Given the description of an element on the screen output the (x, y) to click on. 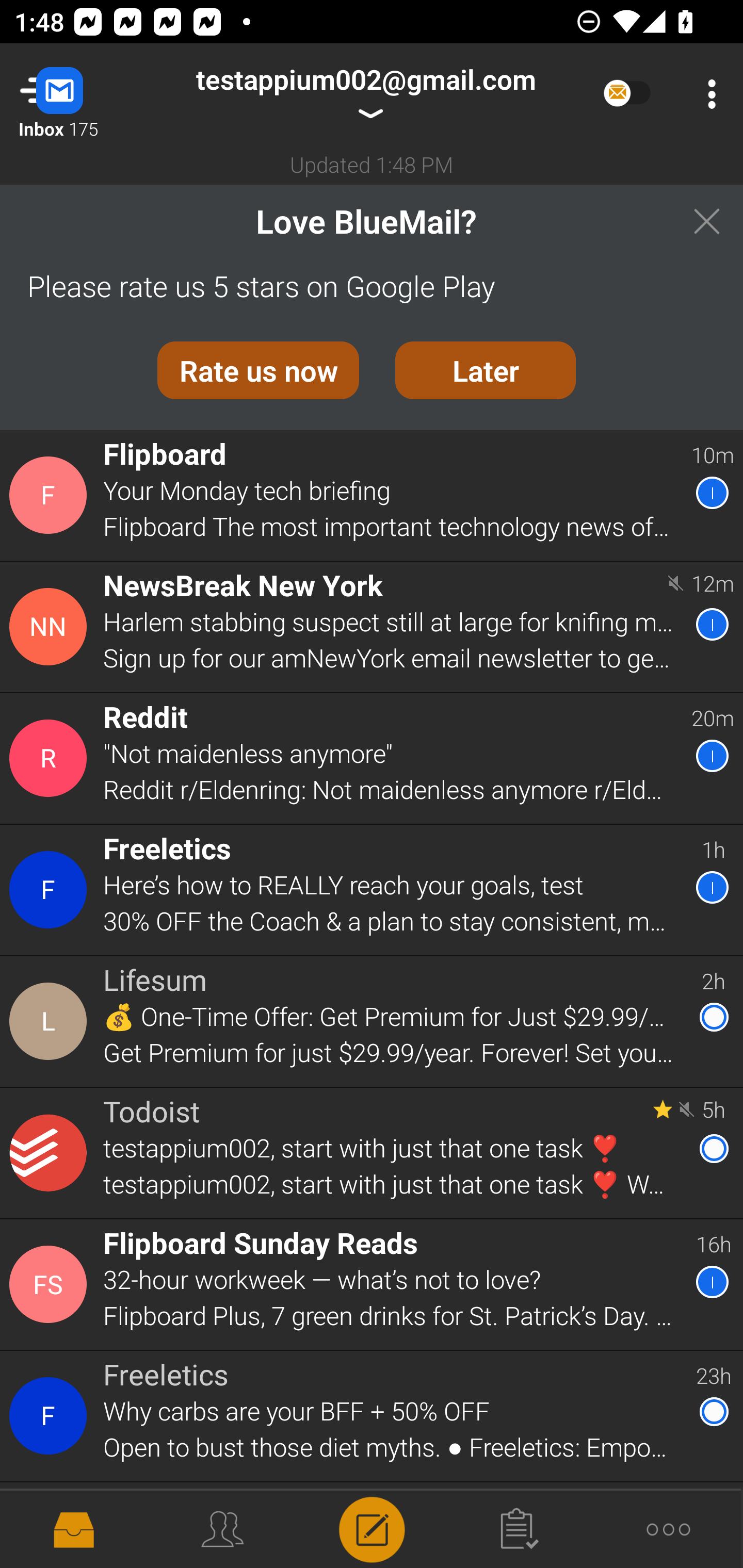
Navigate up (81, 93)
testappium002@gmail.com (365, 93)
More Options (706, 93)
Updated 1:48 PM (371, 164)
Rate us now (257, 370)
Later (485, 370)
Contact Details (50, 495)
Contact Details (50, 626)
Contact Details (50, 758)
Contact Details (50, 889)
Contact Details (50, 1021)
Contact Details (50, 1153)
Contact Details (50, 1284)
Contact Details (50, 1416)
Compose (371, 1528)
